Given the description of an element on the screen output the (x, y) to click on. 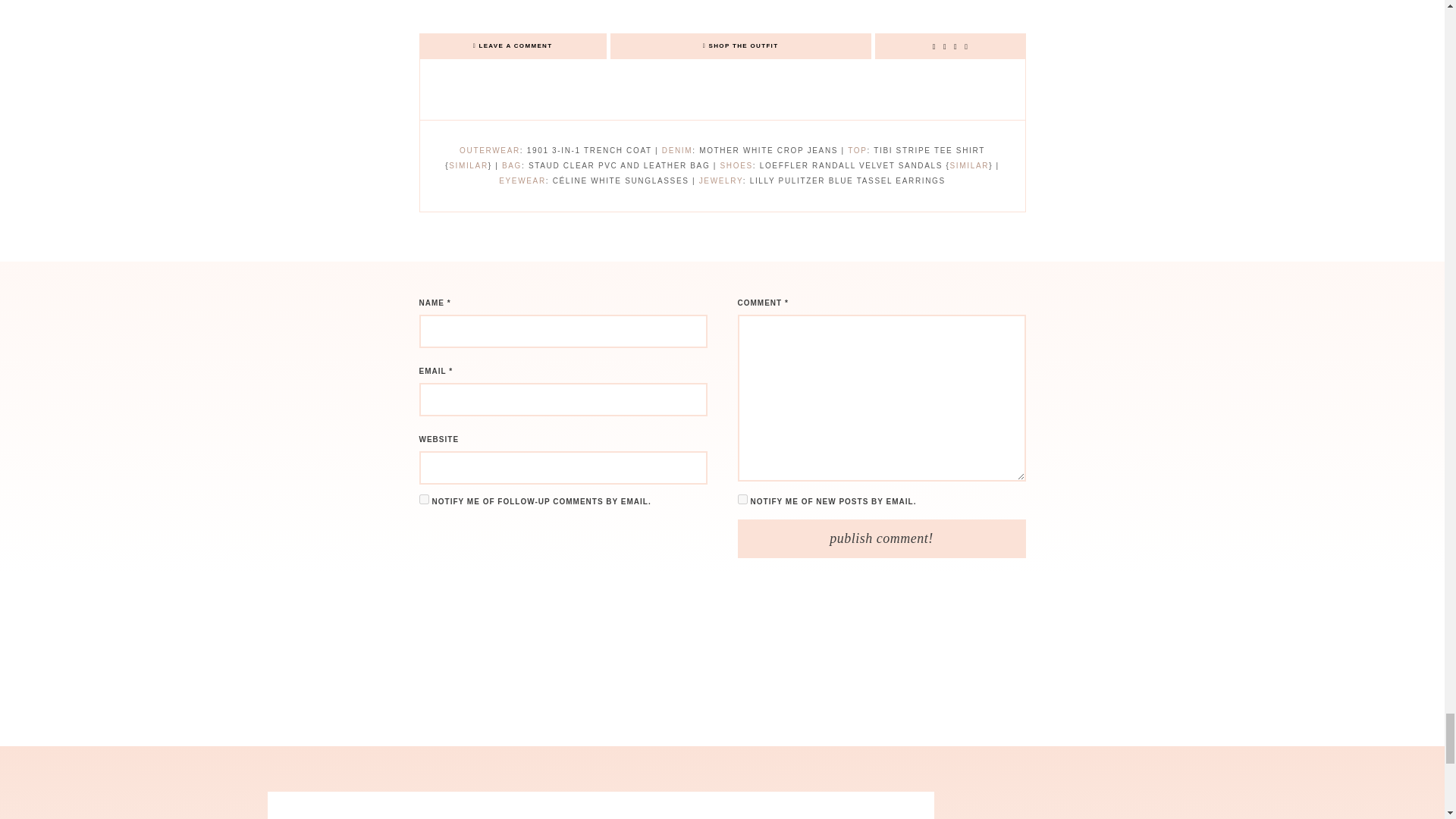
Publish Comment! (880, 538)
subscribe (741, 499)
subscribe (423, 499)
